Given the description of an element on the screen output the (x, y) to click on. 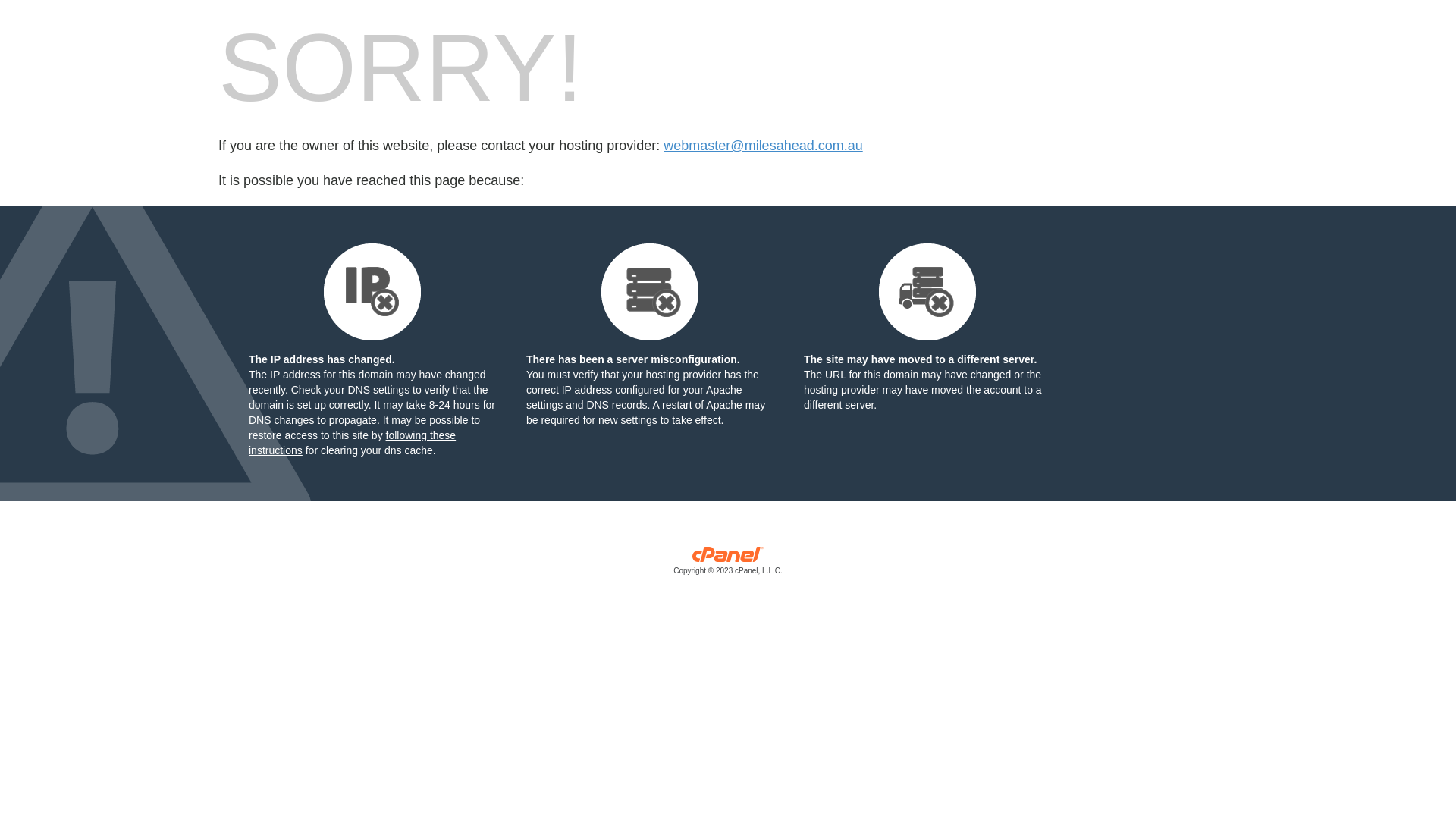
webmaster@milesahead.com.au Element type: text (762, 145)
following these instructions Element type: text (351, 442)
